Given the description of an element on the screen output the (x, y) to click on. 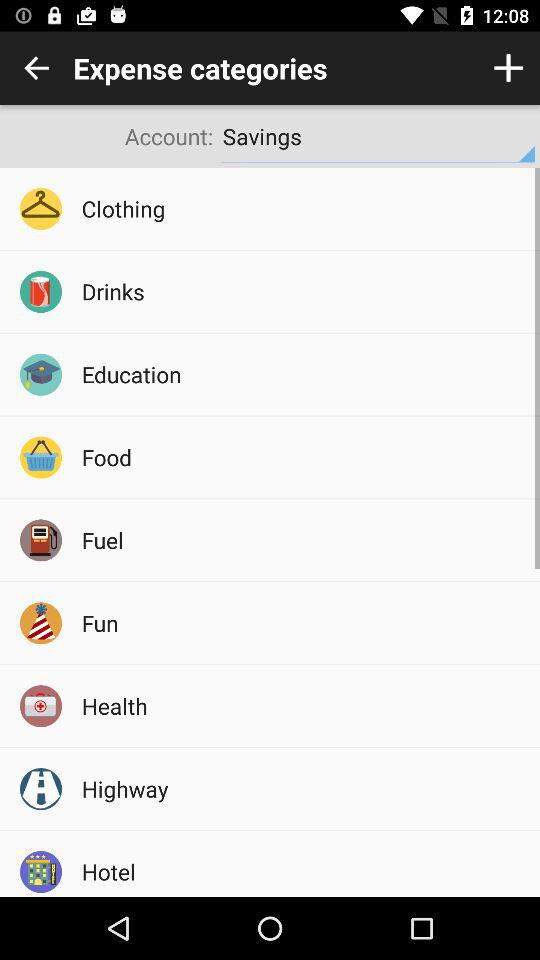
choose item to the left of expense categories item (36, 68)
